Given the description of an element on the screen output the (x, y) to click on. 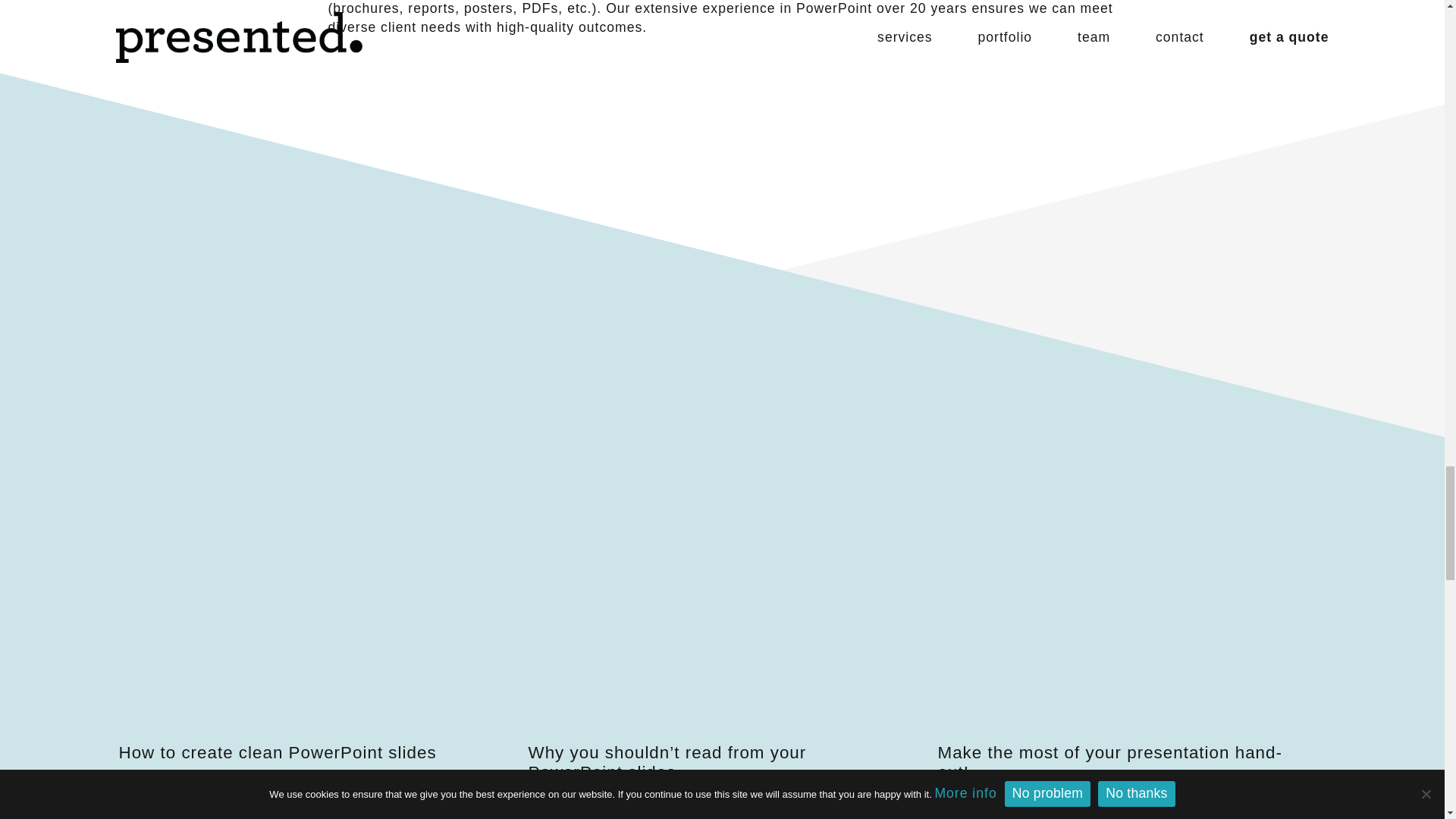
How to create clean PowerPoint slides (276, 752)
Why you shouldn't read from your PowerPoint slides 10 (709, 633)
How to create clean PowerPoint slides (276, 752)
How to create clean PowerPoint slides (299, 633)
How to create clean PowerPoint slides 9 (299, 633)
Make the most of your presentation hand-out! (1109, 762)
